Given the description of an element on the screen output the (x, y) to click on. 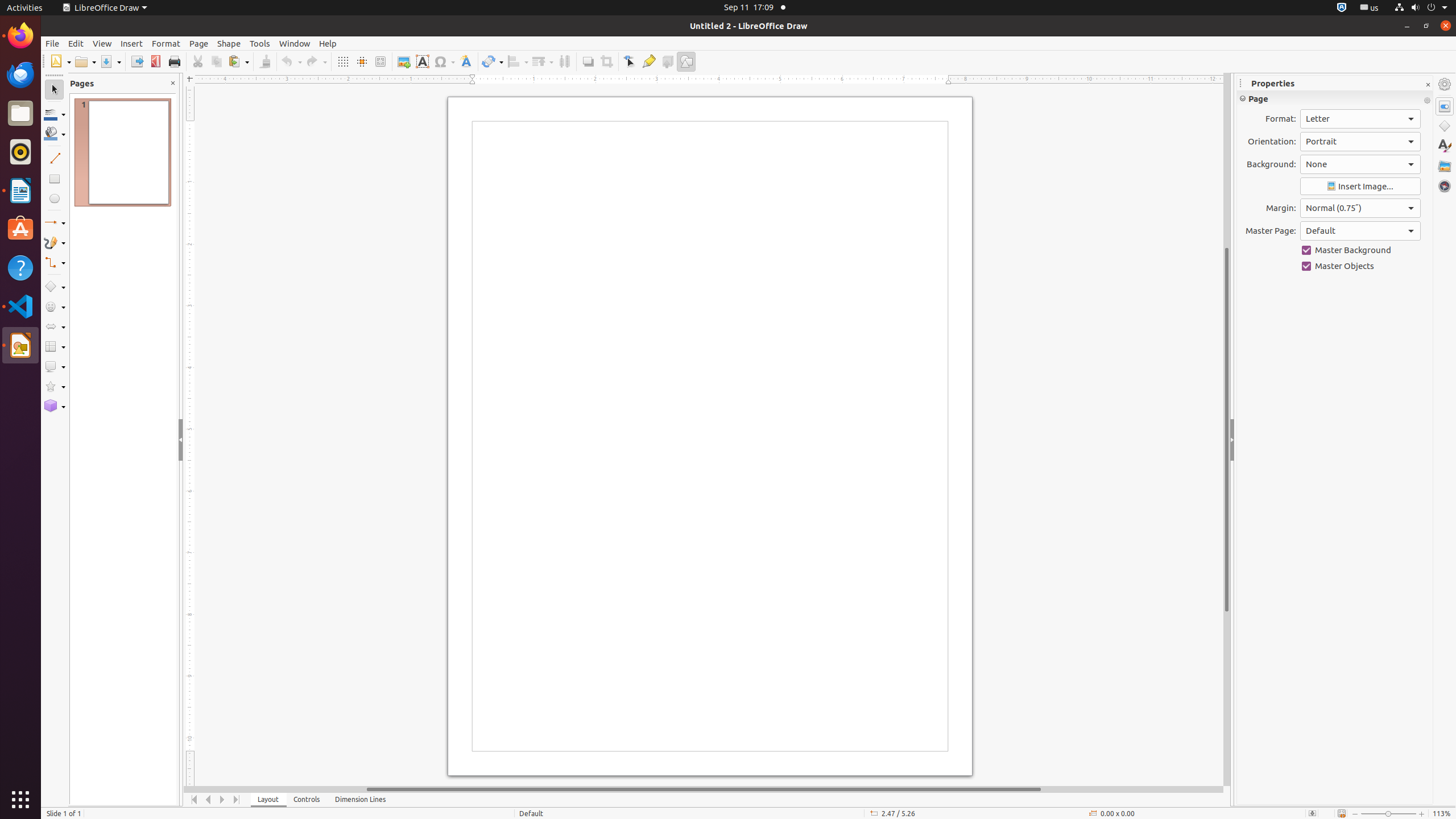
Symbol Element type: push-button (443, 61)
Cut Element type: push-button (197, 61)
LibreOffice Draw Element type: menu (103, 7)
Master Background Element type: check-box (1360, 249)
Open Element type: push-button (84, 61)
